Given the description of an element on the screen output the (x, y) to click on. 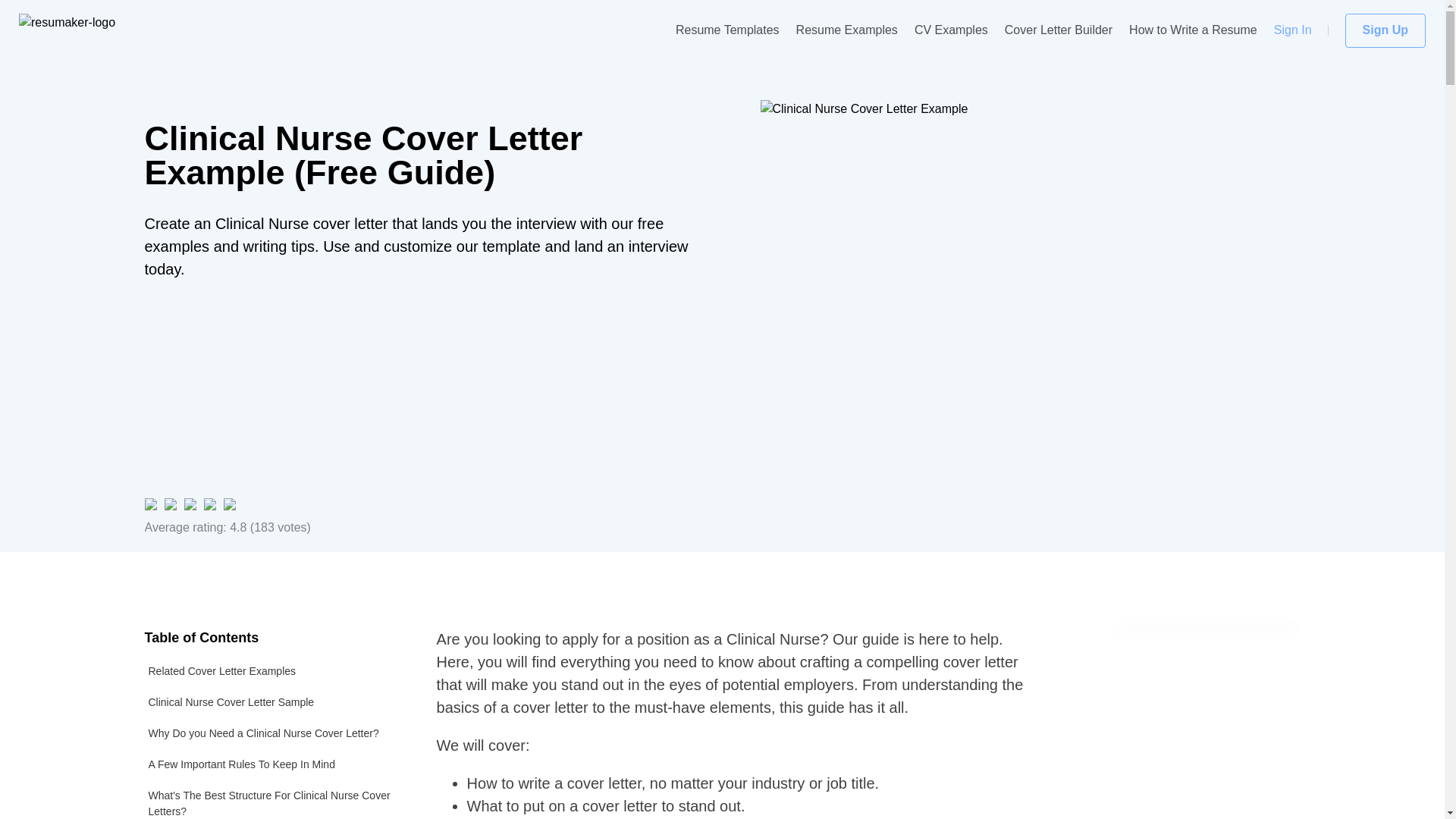
How to Write a Resume (1193, 30)
Clinical Nurse Cover Letter Sample (270, 702)
CV Examples (951, 30)
A Few Important Rules To Keep In Mind (270, 764)
Why Do you Need a Clinical Nurse Cover Letter? (270, 733)
Cover Letter Builder (1058, 30)
Resume Templates (726, 30)
What's The Best Structure For Clinical Nurse Cover Letters? (270, 799)
Resume Examples (847, 30)
Related Cover Letter Examples (270, 671)
